Given the description of an element on the screen output the (x, y) to click on. 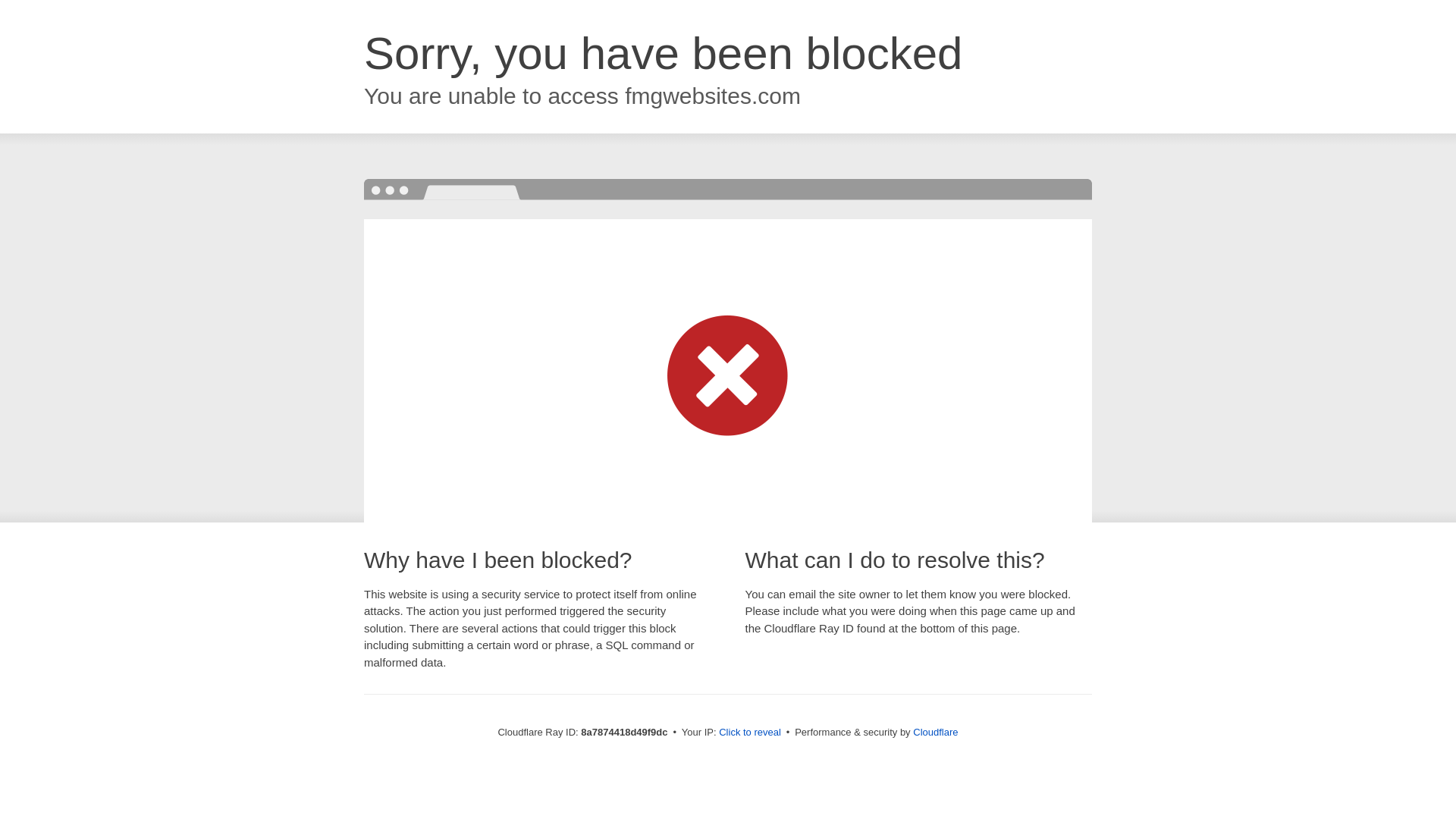
Click to reveal (749, 732)
Cloudflare (935, 731)
